Given the description of an element on the screen output the (x, y) to click on. 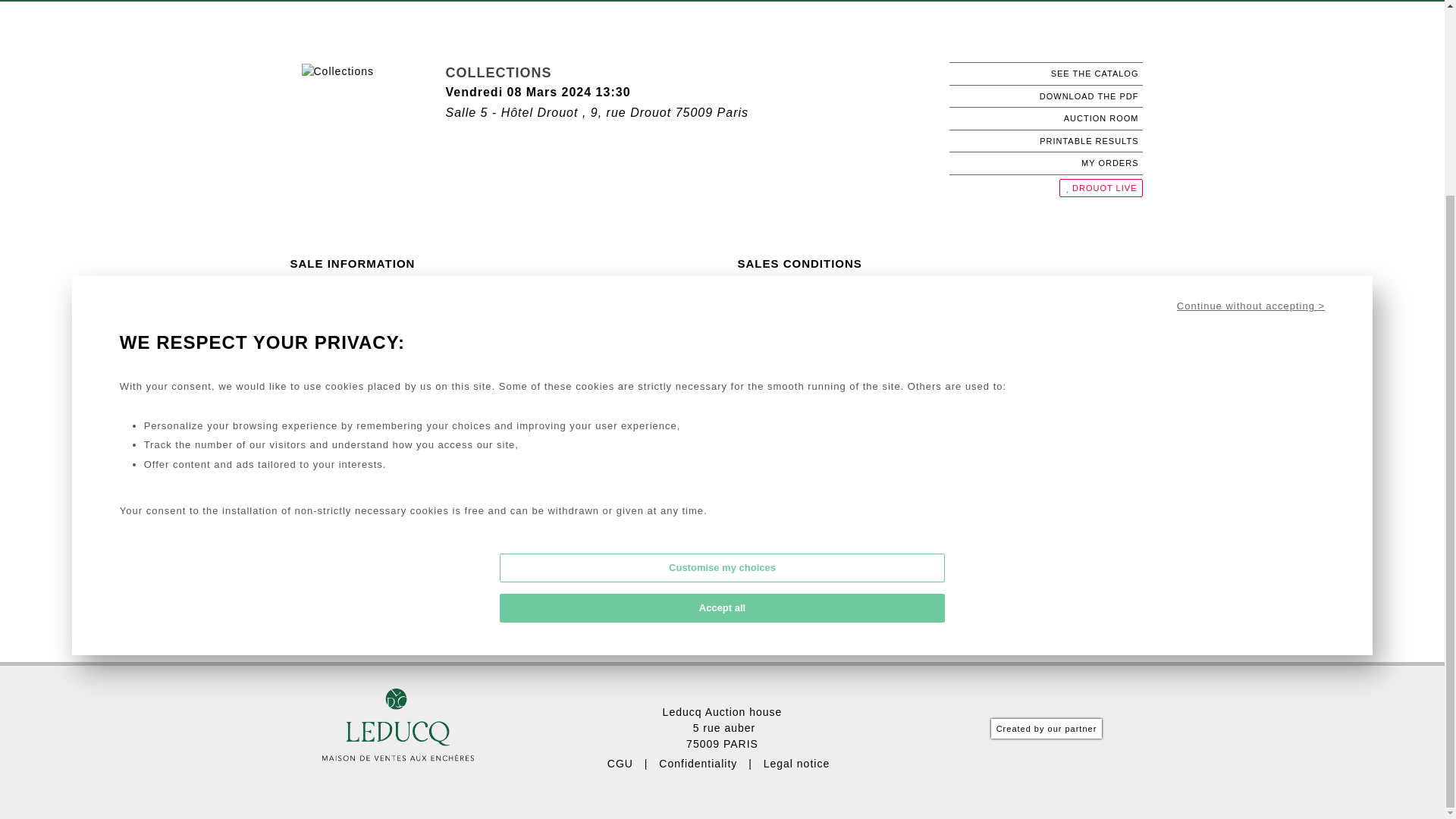
Customise my choices (721, 321)
Accept all (721, 361)
Legal notice (795, 763)
Created by our partner (1046, 728)
DROUOT LIVE (1100, 186)
CGU (620, 763)
Confidentiality (697, 763)
